Given the description of an element on the screen output the (x, y) to click on. 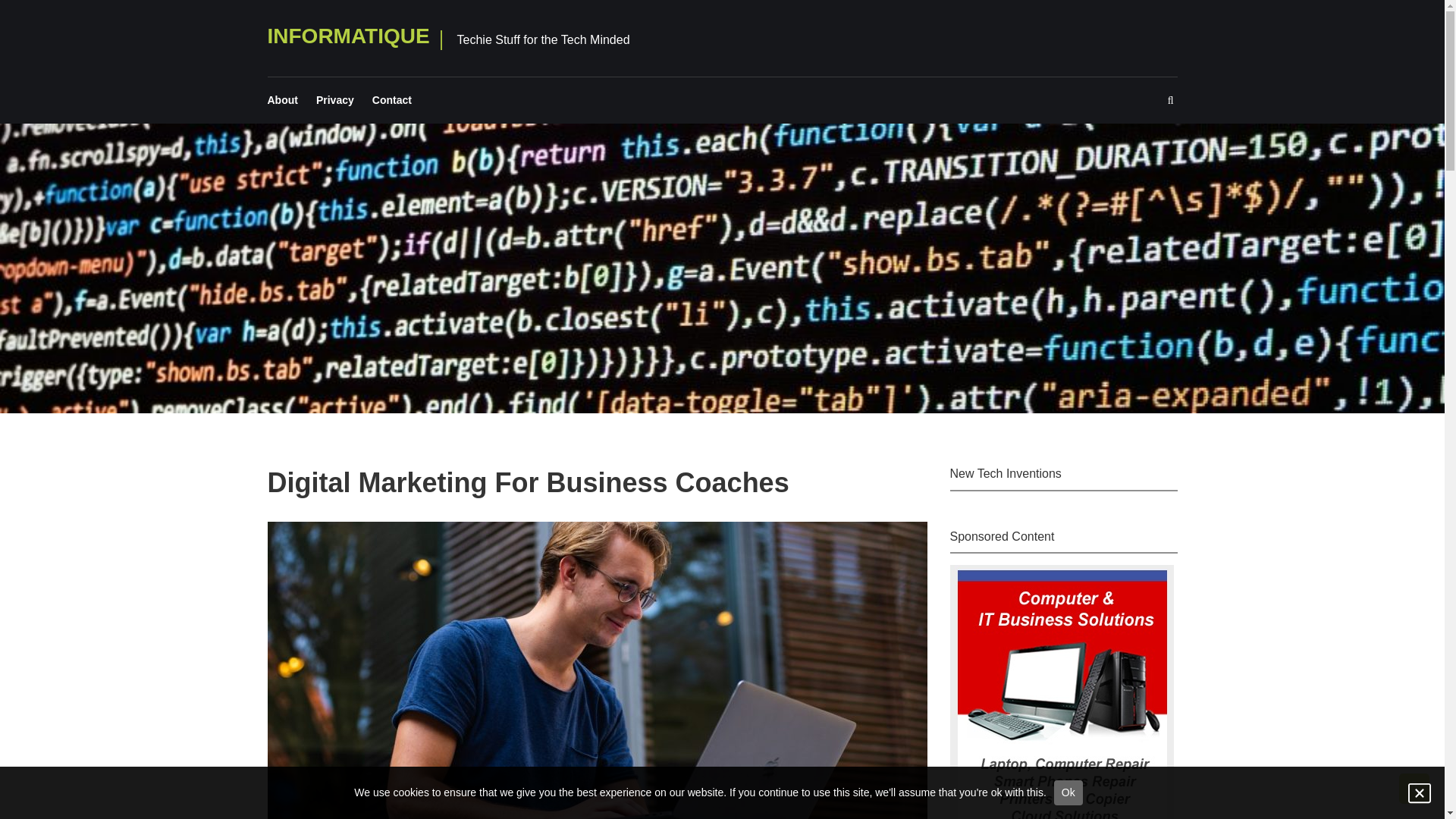
INFORMATIQUE (347, 35)
Ok (1068, 792)
About (281, 100)
Informatique (347, 35)
Contact (392, 100)
Privacy (334, 100)
Search (825, 427)
